Given the description of an element on the screen output the (x, y) to click on. 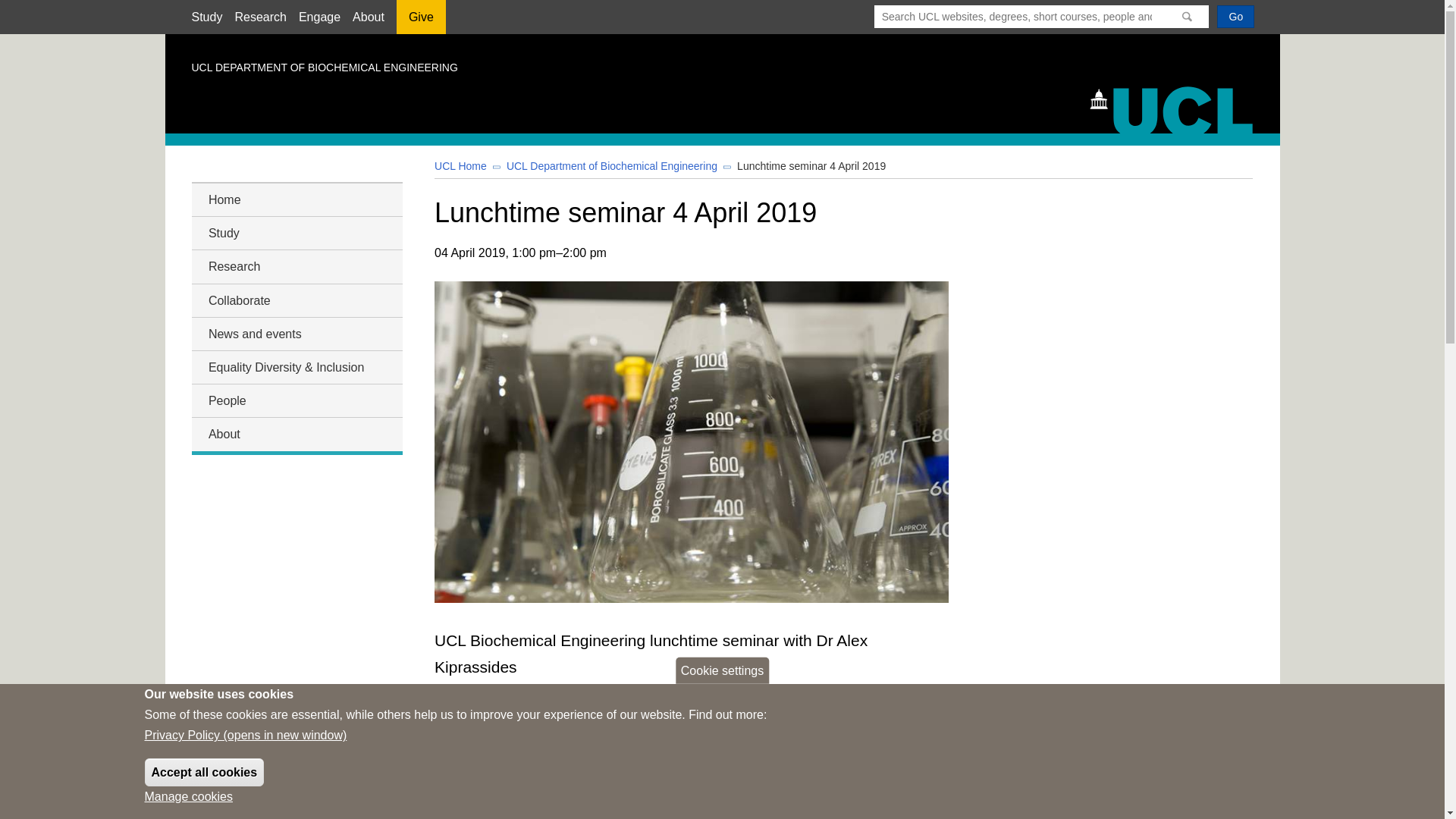
UCL Department of Biochemical Engineering (611, 165)
Go (1235, 15)
Go (1235, 15)
Collaborate (296, 300)
Research (259, 16)
Study (206, 16)
UCL Home (459, 165)
About (296, 434)
Study (296, 232)
About (368, 16)
Home (1178, 108)
Give (420, 22)
Research (296, 266)
Lunchtime seminar 4 April 2019 (810, 165)
